Given the description of an element on the screen output the (x, y) to click on. 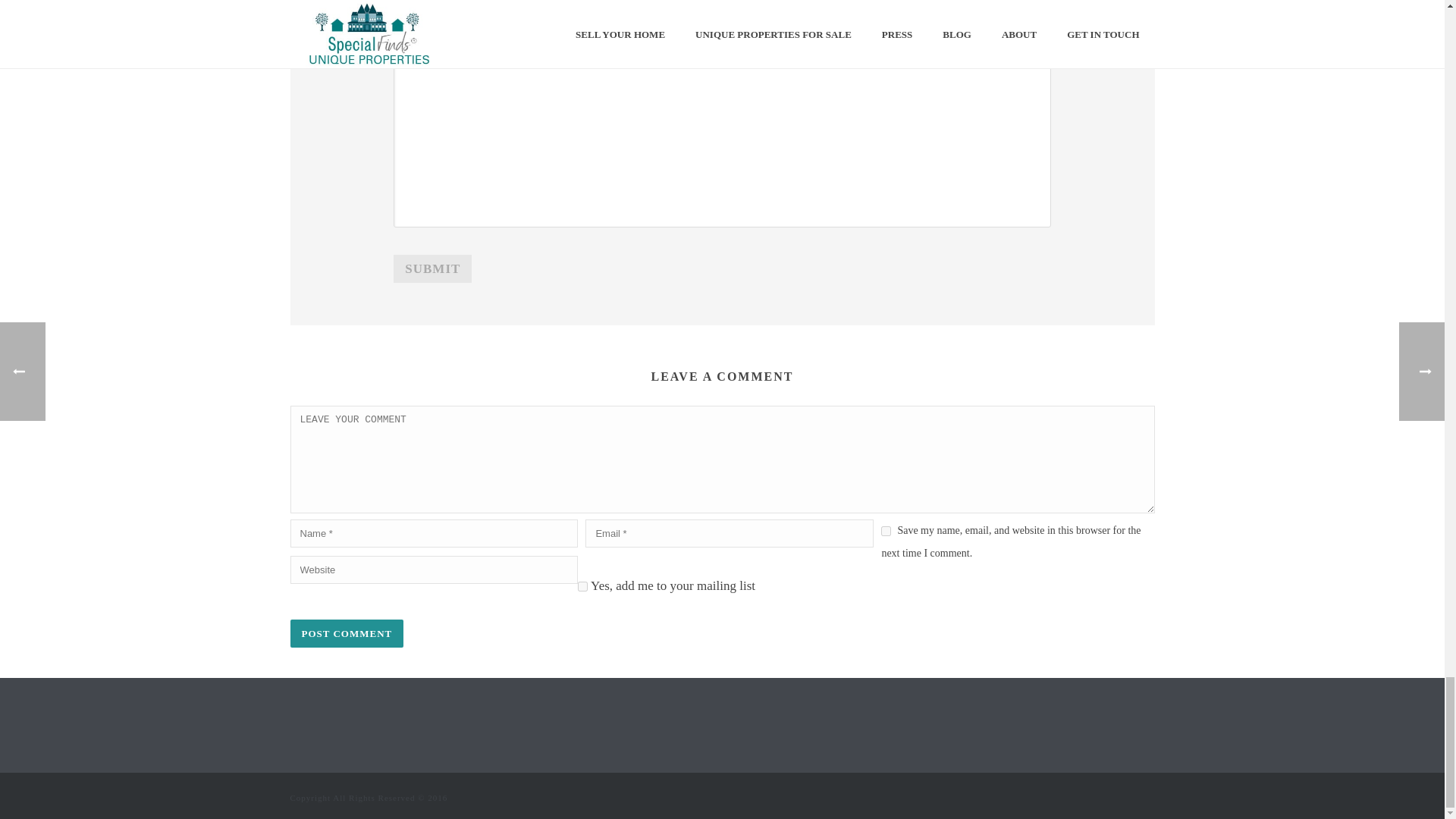
POST COMMENT (346, 633)
Submit (432, 268)
1 (583, 586)
yes (885, 531)
